Given the description of an element on the screen output the (x, y) to click on. 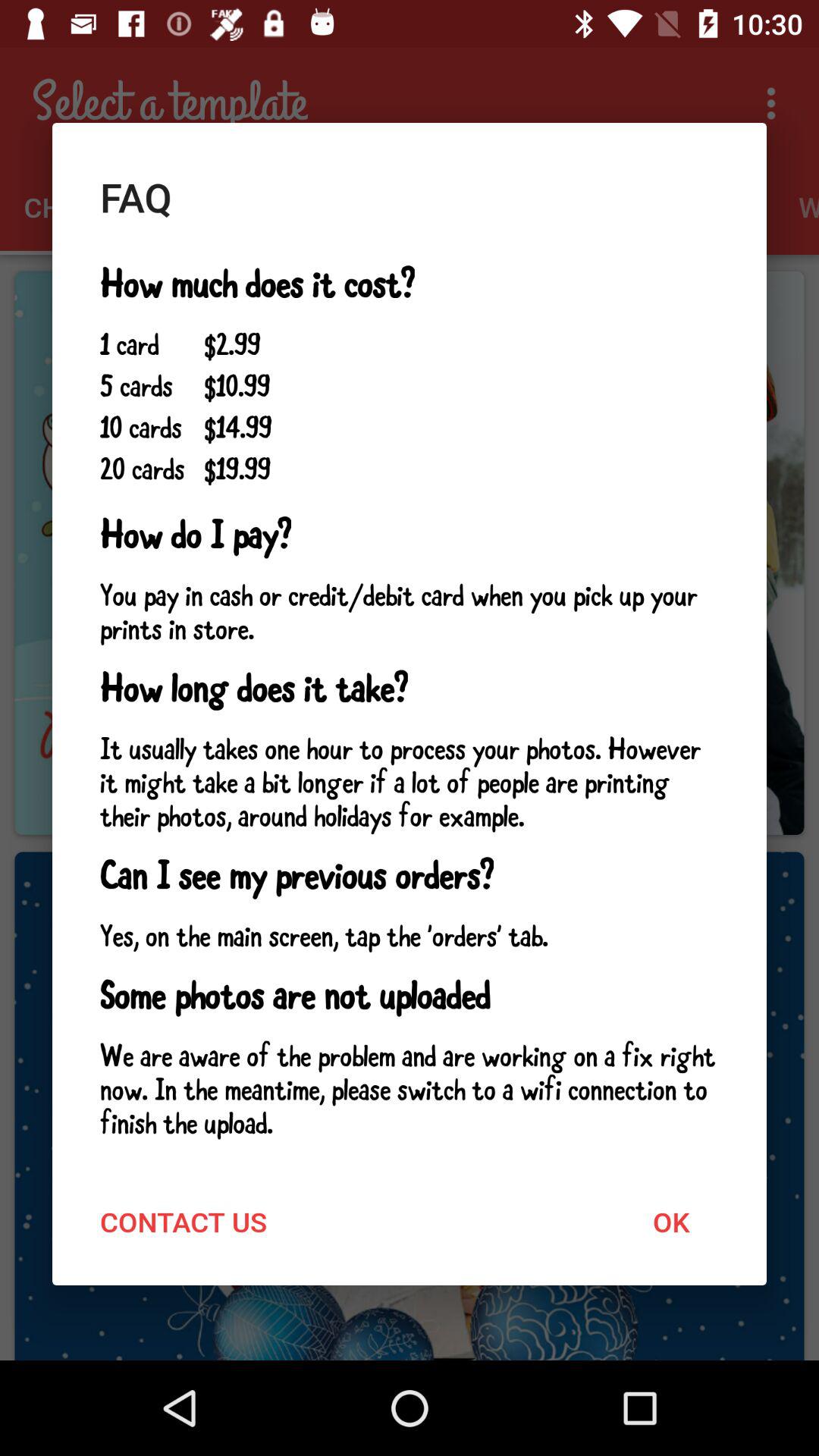
tap the item at the bottom right corner (670, 1221)
